Given the description of an element on the screen output the (x, y) to click on. 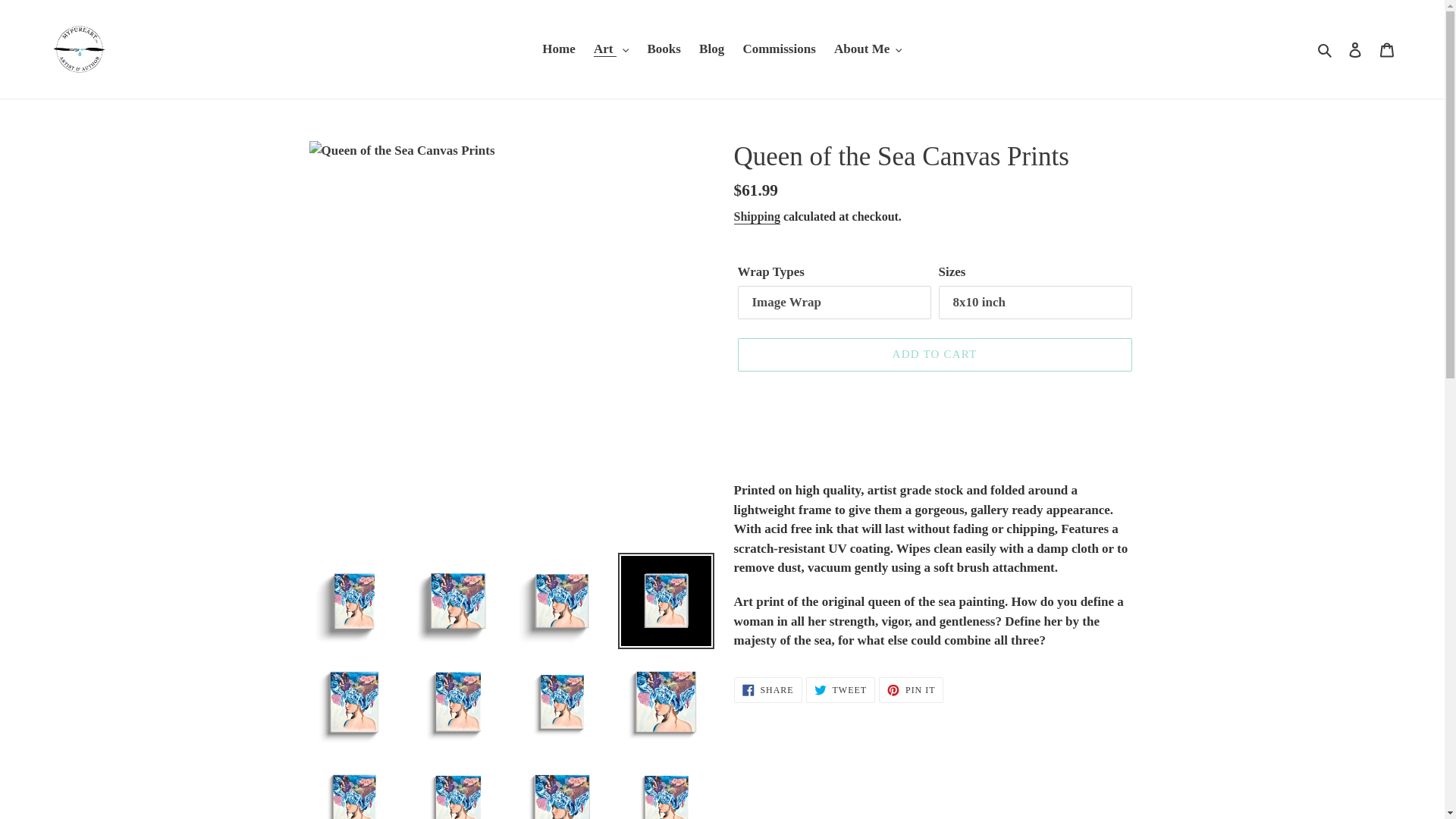
About Me (868, 48)
Art (611, 48)
Log in (1355, 48)
Home (558, 48)
Commissions (778, 48)
Cart (1387, 48)
Blog (711, 48)
Books (663, 48)
Search (1326, 48)
